Given the description of an element on the screen output the (x, y) to click on. 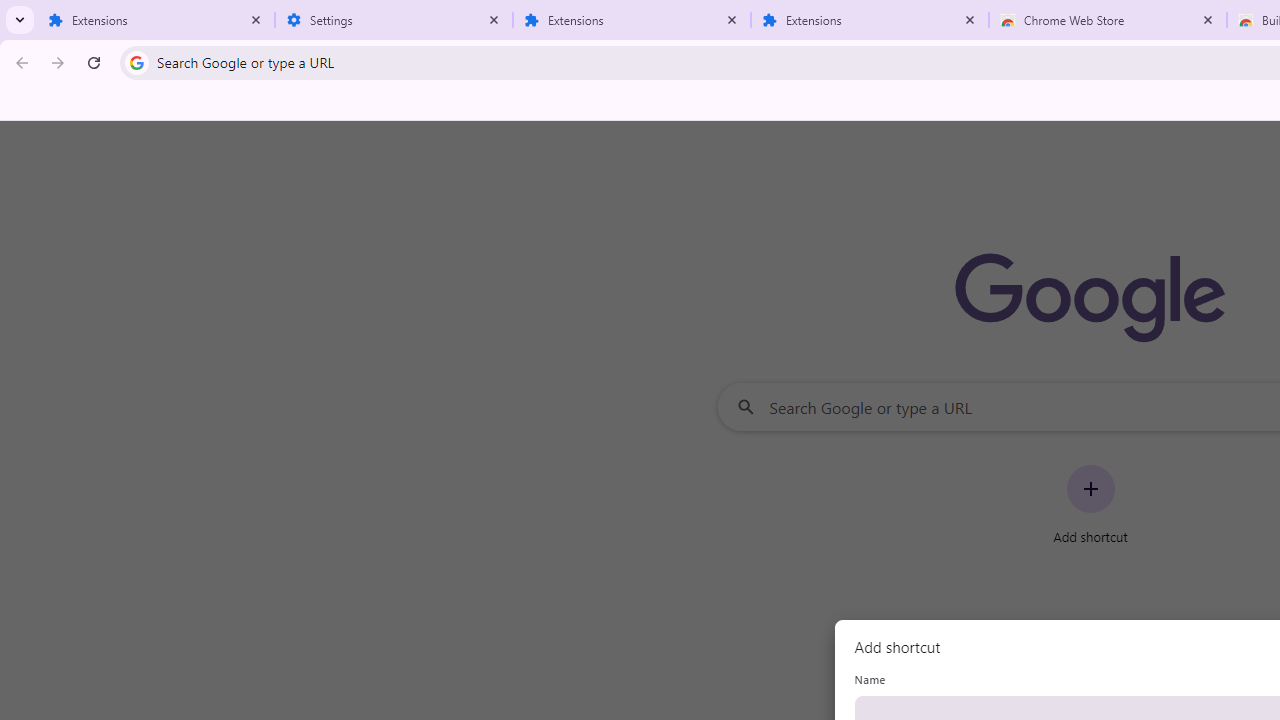
Extensions (632, 20)
Chrome Web Store (1108, 20)
Extensions (156, 20)
Settings (394, 20)
Extensions (870, 20)
